Given the description of an element on the screen output the (x, y) to click on. 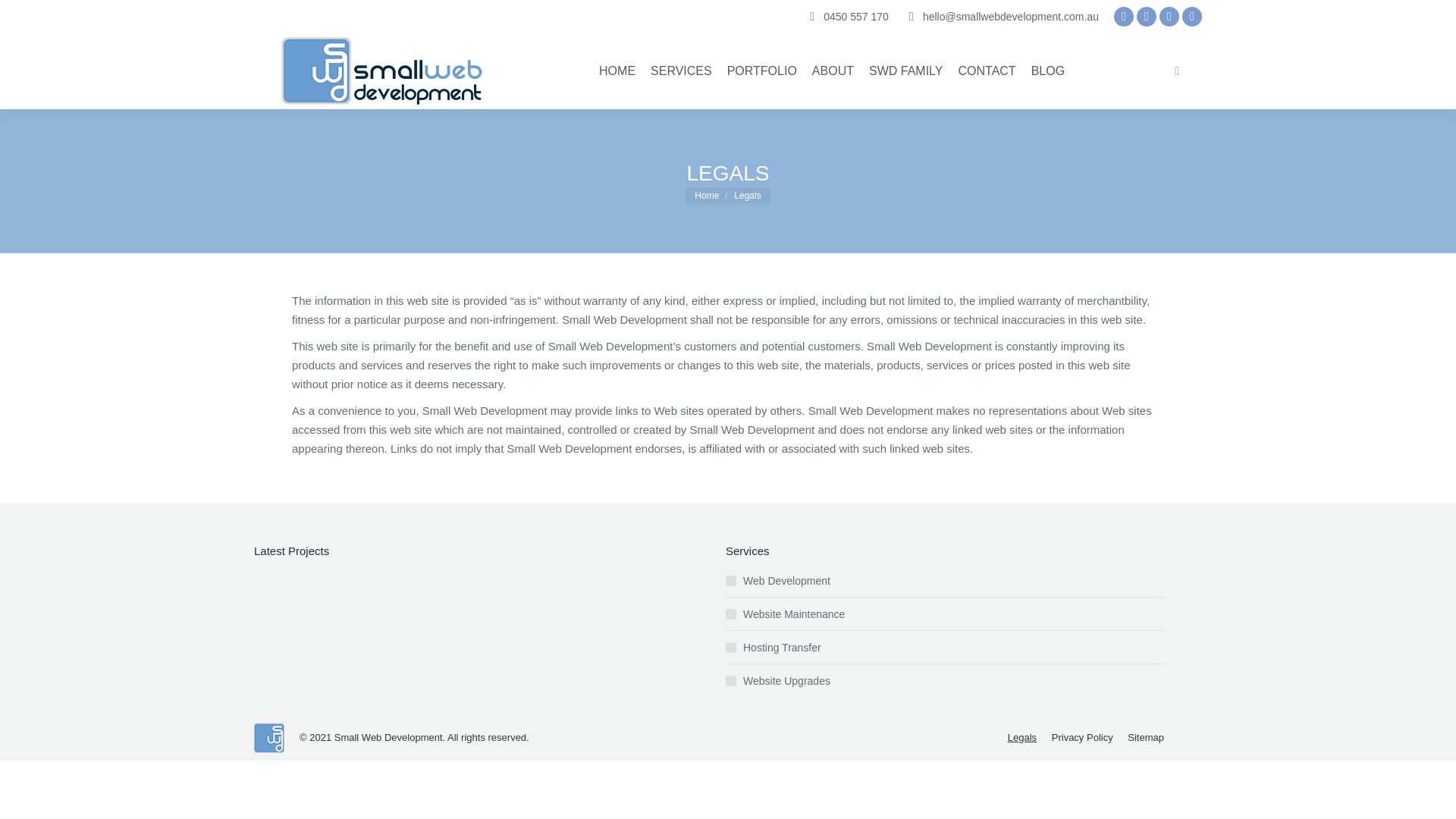
Home (706, 194)
Facebook page opens in new window (1123, 16)
Instagram page opens in new window (1146, 16)
PORTFOLIO (762, 70)
X page opens in new window (1168, 16)
X page opens in new window (1168, 16)
Facebook page opens in new window (1123, 16)
Instagram page opens in new window (1146, 16)
CONTACT (986, 70)
Go! (24, 16)
